Given the description of an element on the screen output the (x, y) to click on. 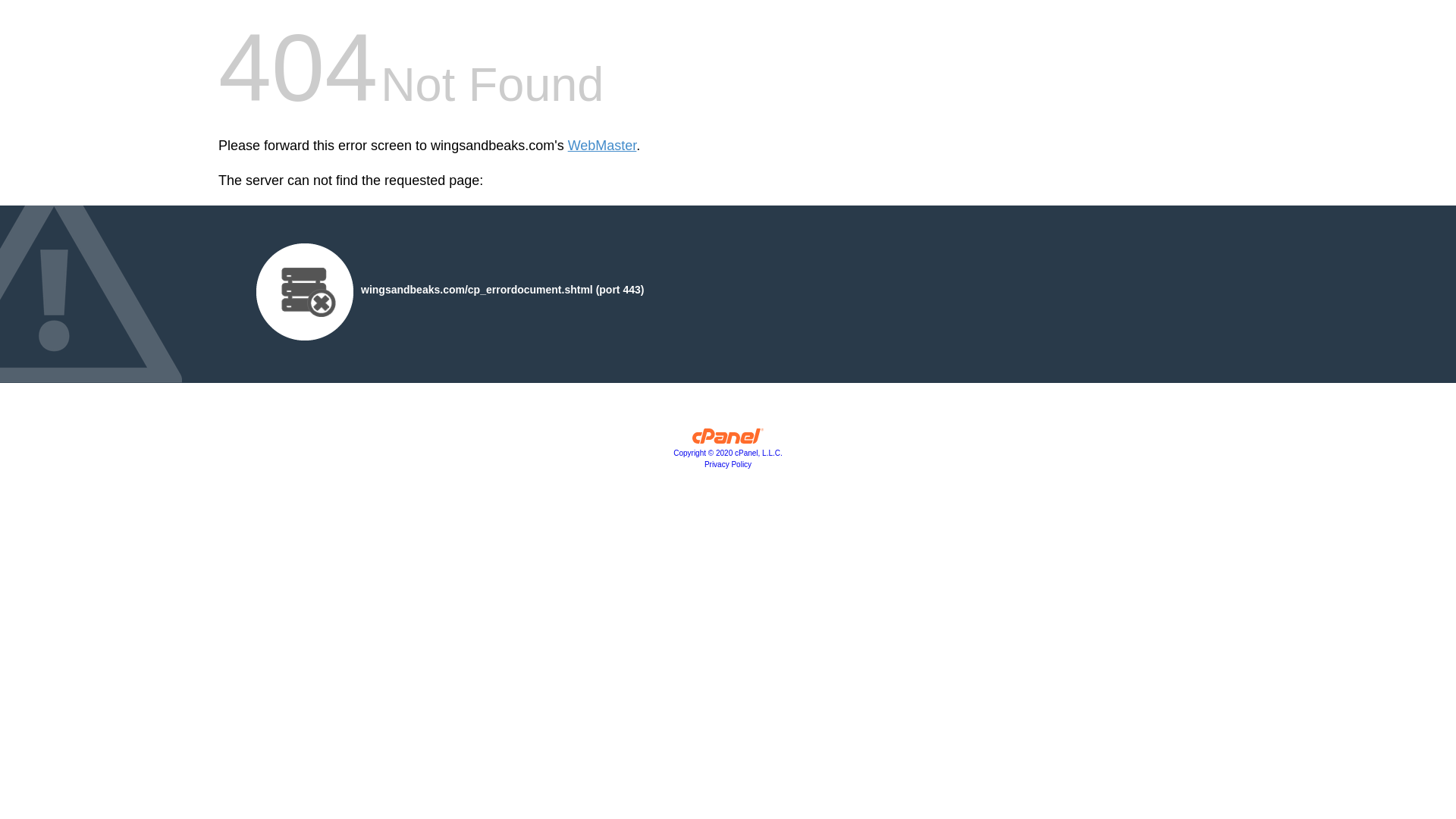
WebMaster (602, 145)
cPanel, Inc. (728, 439)
Privacy Policy (727, 464)
cPanel, Inc. (727, 452)
